Given the description of an element on the screen output the (x, y) to click on. 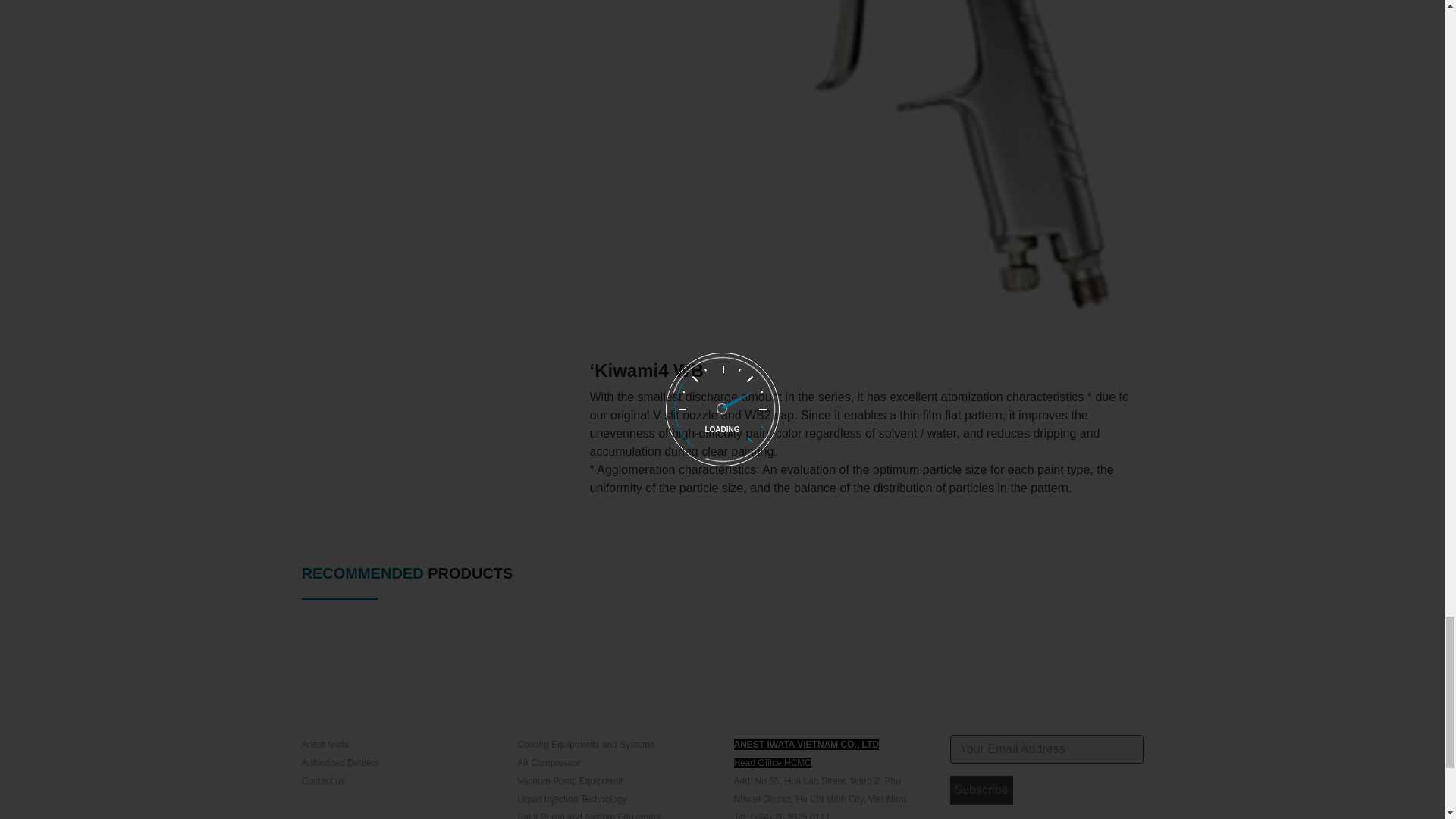
Anest Iwata (325, 744)
Subscribe (980, 789)
Contact us (323, 780)
Vacuum Pump Equipment (569, 780)
Authorized Dealers (339, 762)
Paint Pump and System Equipment (588, 815)
Air Compressor (547, 762)
Coating Equipments and Systems (584, 744)
Liquid Injection Technology (571, 798)
